Given the description of an element on the screen output the (x, y) to click on. 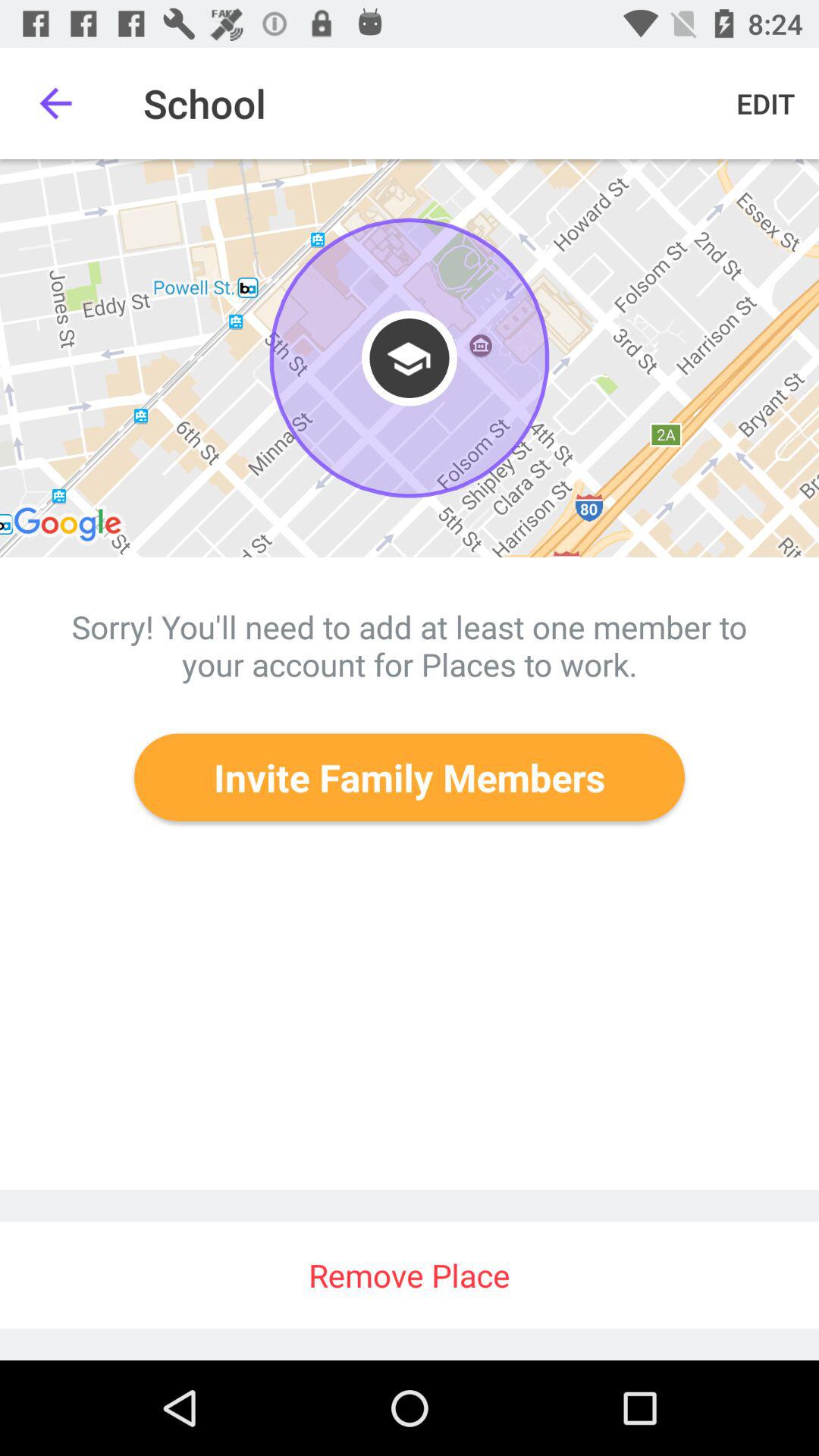
turn off the icon to the right of school (765, 103)
